Given the description of an element on the screen output the (x, y) to click on. 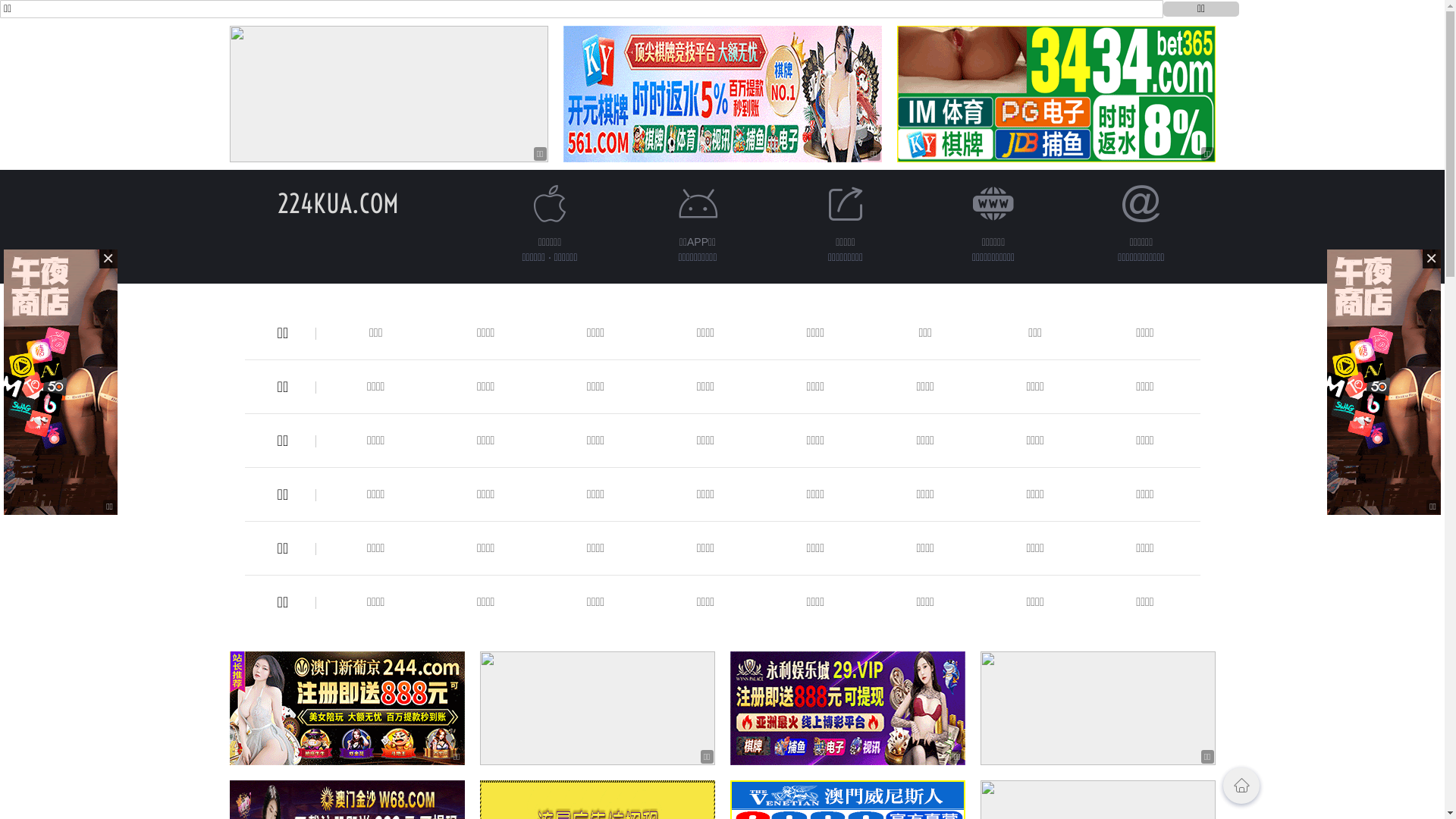
224KUA.COM Element type: text (337, 203)
